Given the description of an element on the screen output the (x, y) to click on. 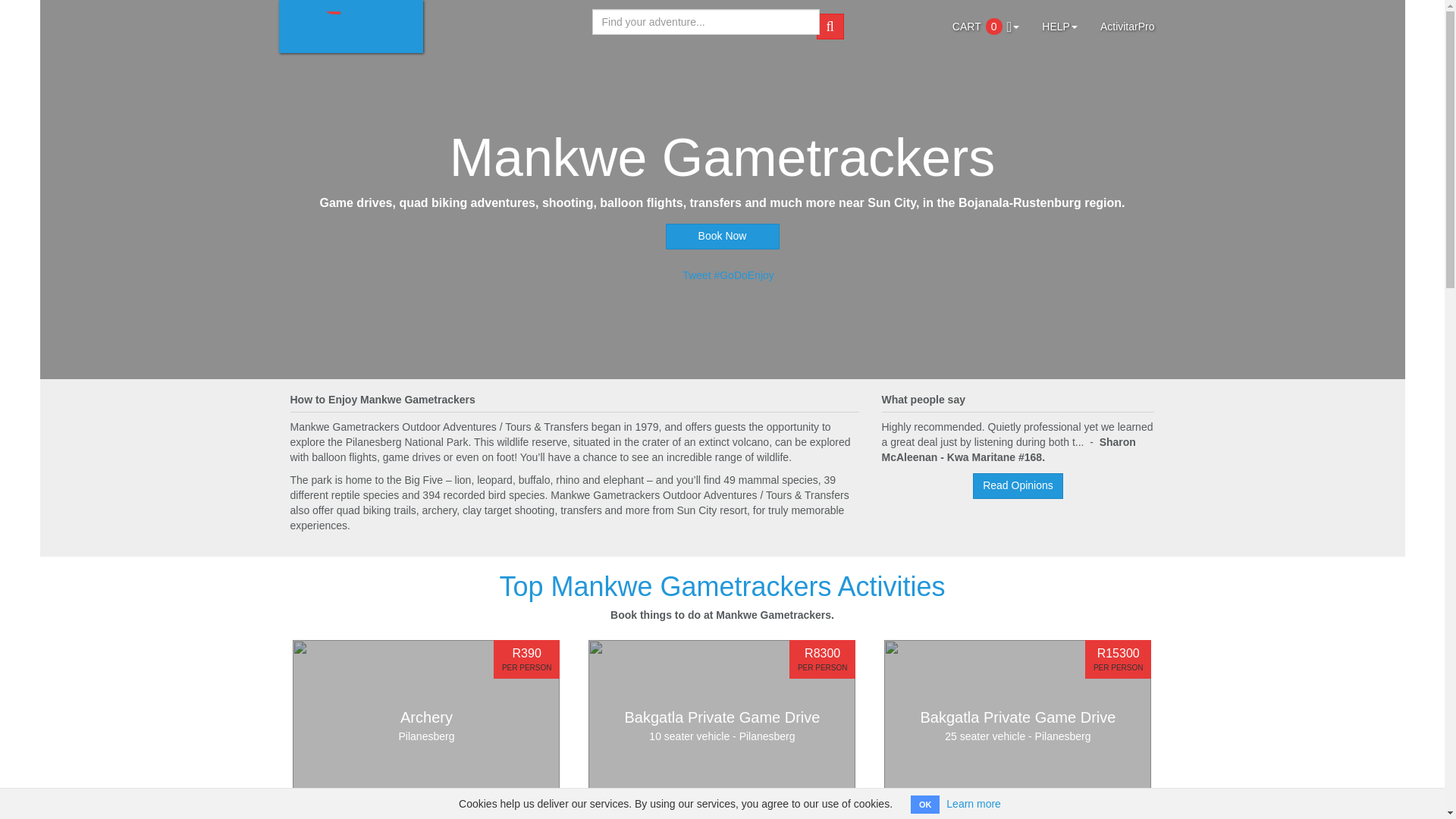
Book Now (721, 243)
HELP (1059, 18)
CART0 (985, 18)
Activitar. Go. Do. Enjoy. (351, 26)
OK (925, 804)
Book Now (721, 243)
ActivitarPro (1127, 18)
Learn more (973, 803)
Read Opinions (1017, 485)
Book Now (425, 714)
